Given the description of an element on the screen output the (x, y) to click on. 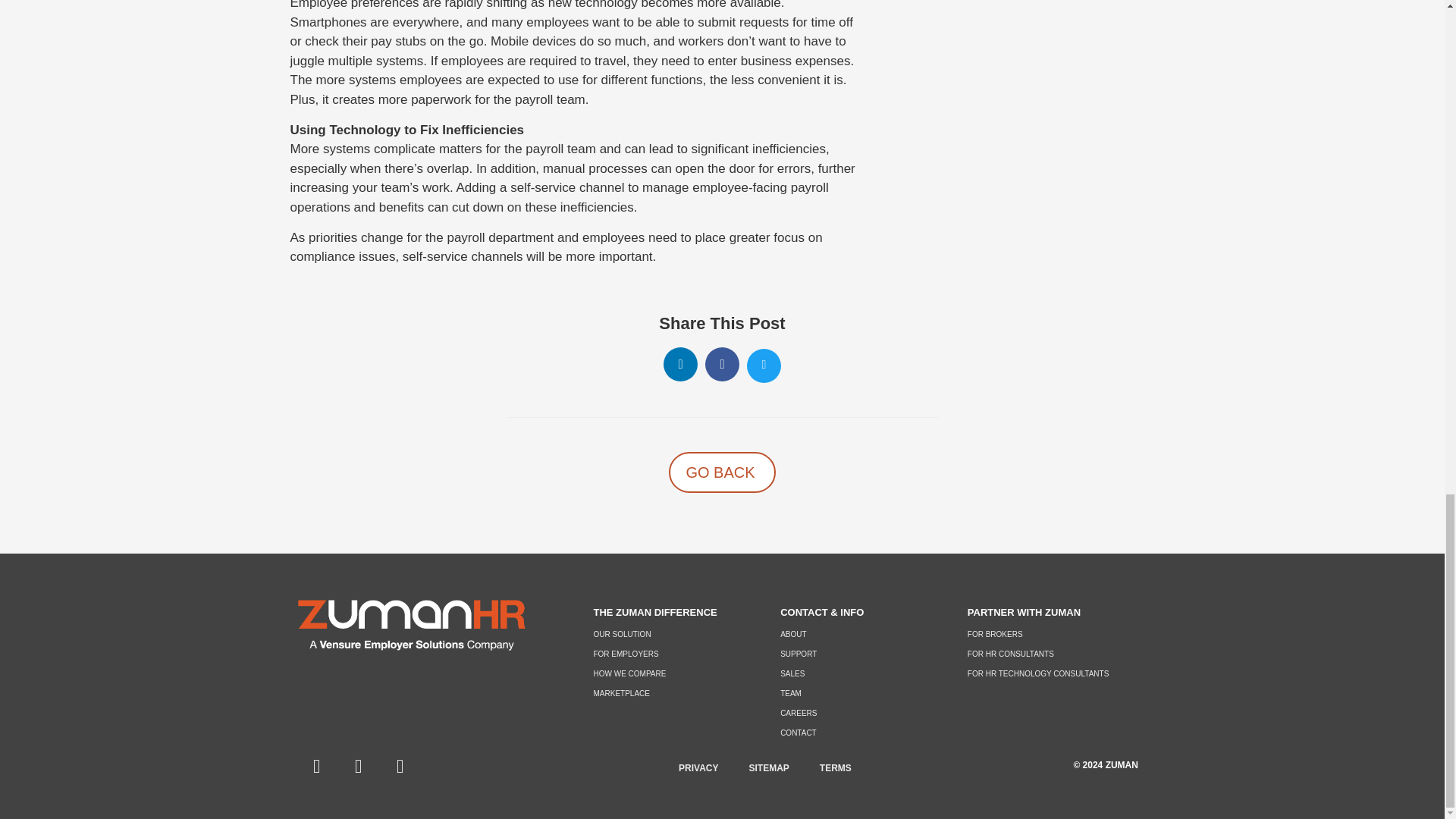
SUPPORT (858, 654)
ABOUT (858, 634)
TEAM (858, 693)
OUR SOLUTION (671, 634)
MARKETPLACE (671, 693)
SALES (858, 673)
CAREERS (858, 713)
GO BACK (721, 472)
HOW WE COMPARE (671, 673)
FOR EMPLOYERS (671, 654)
